Given the description of an element on the screen output the (x, y) to click on. 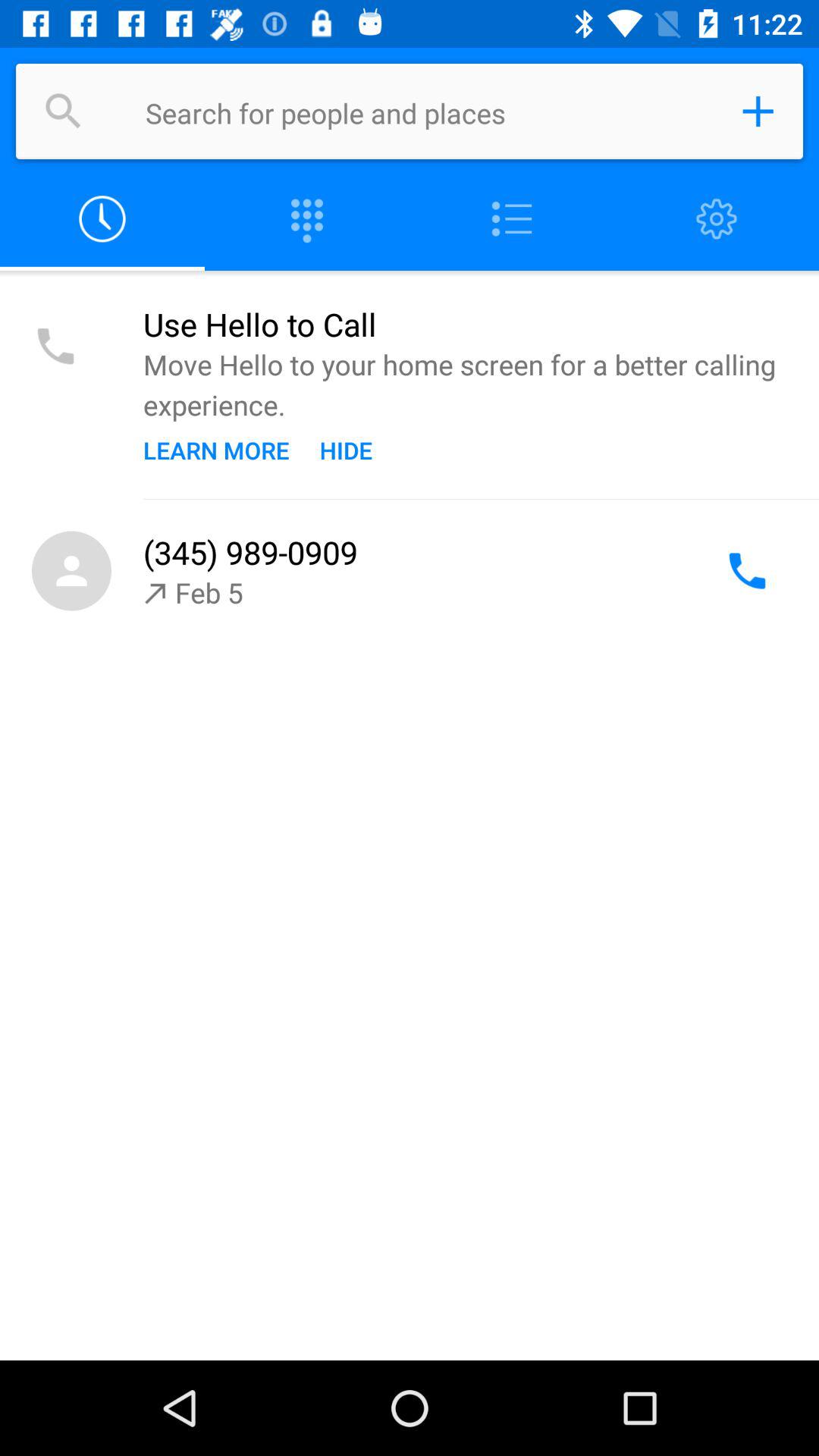
search bar (427, 111)
